Given the description of an element on the screen output the (x, y) to click on. 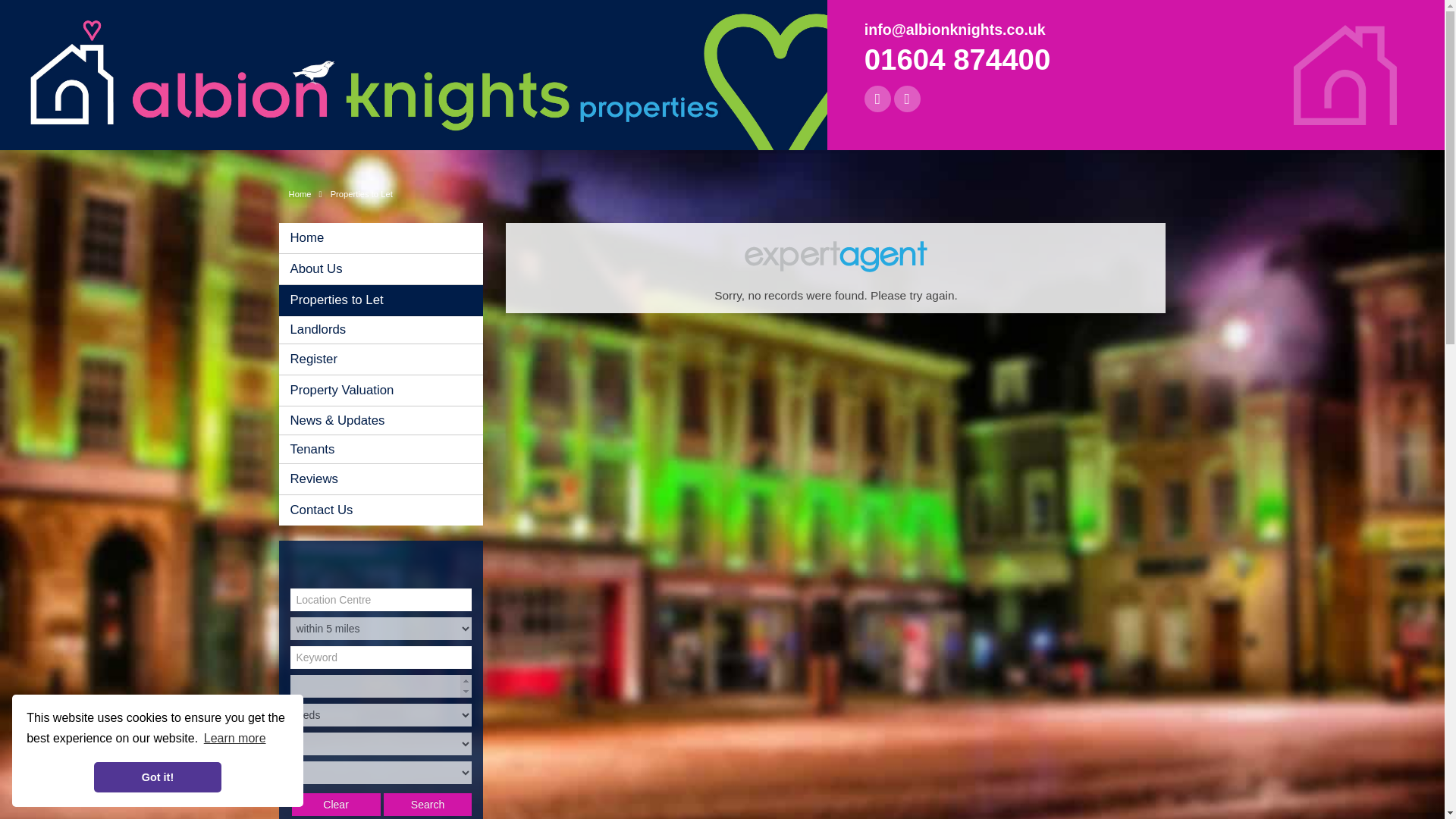
Property Valuation (386, 390)
Properties to Let (386, 300)
Contact Us (386, 510)
Got it! (157, 777)
Register (386, 358)
About Us (386, 268)
Learn more (234, 738)
Home (308, 194)
Search (427, 804)
Home (386, 237)
Reviews (386, 479)
Clear (336, 804)
01604 874400 (957, 59)
